Given the description of an element on the screen output the (x, y) to click on. 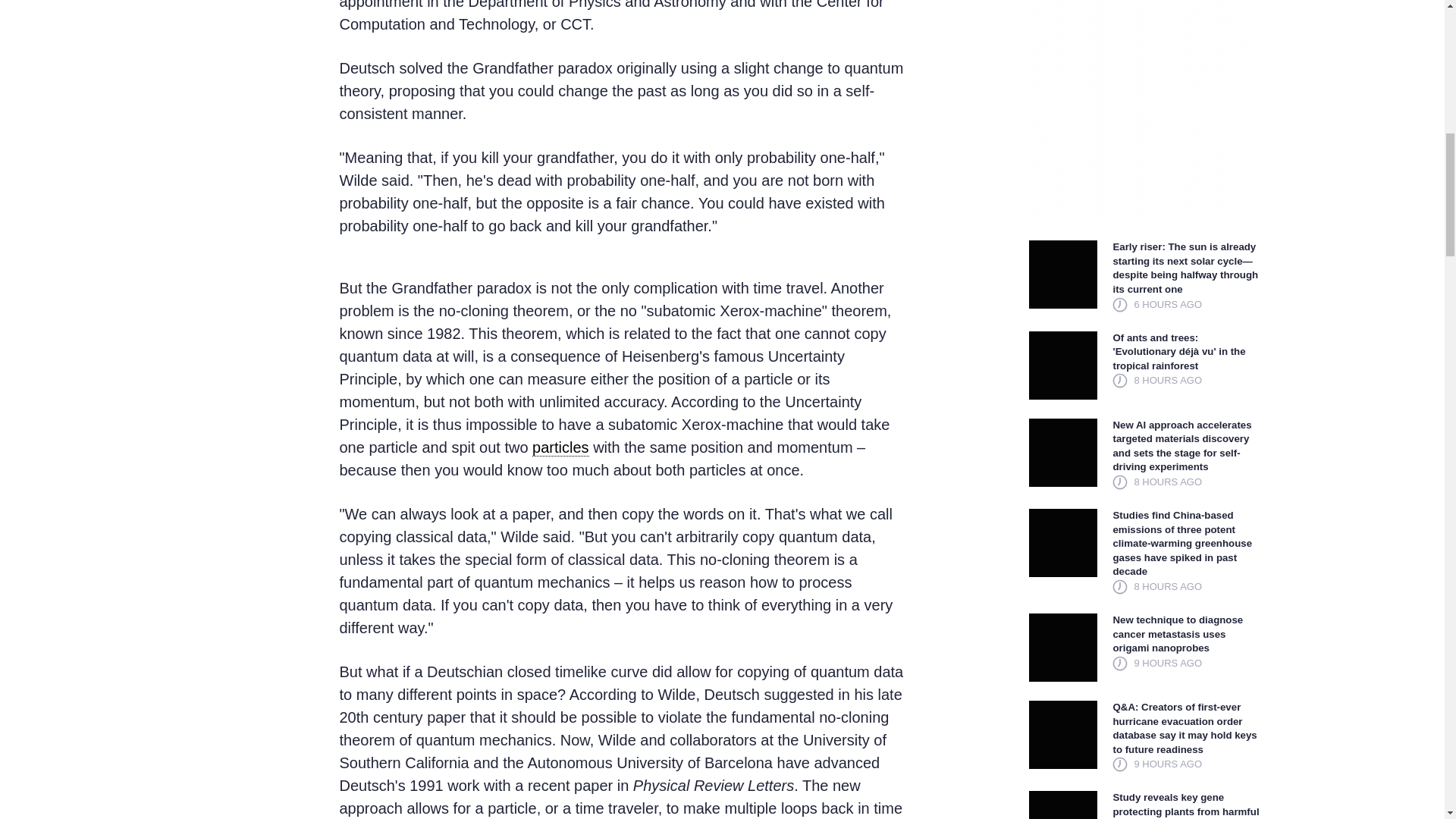
3rd party ad content (1144, 110)
particles (560, 447)
